Given the description of an element on the screen output the (x, y) to click on. 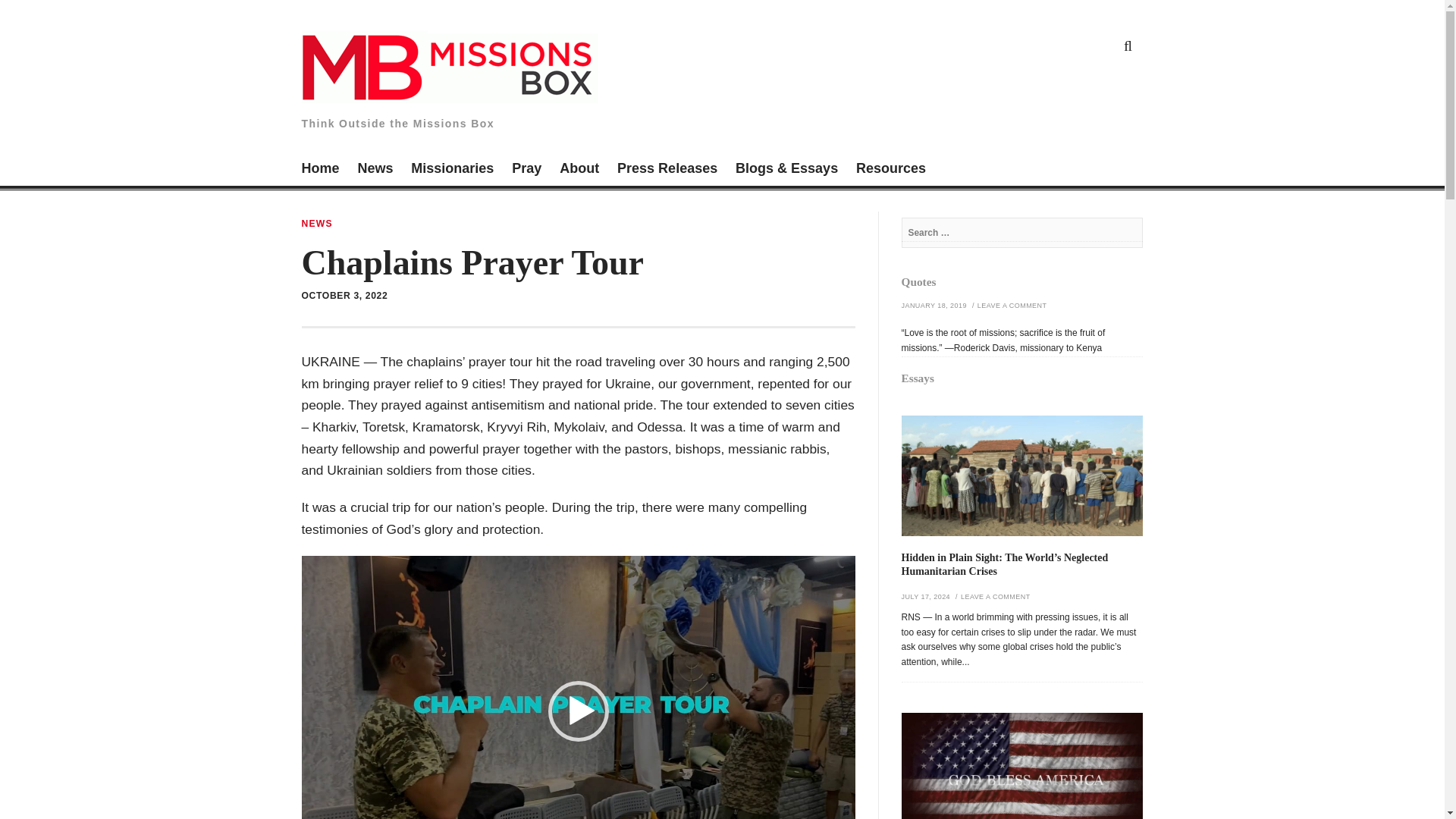
About (578, 170)
Missions Box Press Releases (667, 170)
News (374, 170)
Home (320, 170)
Resources (891, 170)
NEWS (317, 223)
Press Releases (667, 170)
OCTOBER 3, 2022 (344, 295)
Pray (526, 170)
Missionaries (451, 170)
Missions Box Home Page (320, 170)
About (578, 170)
